Given the description of an element on the screen output the (x, y) to click on. 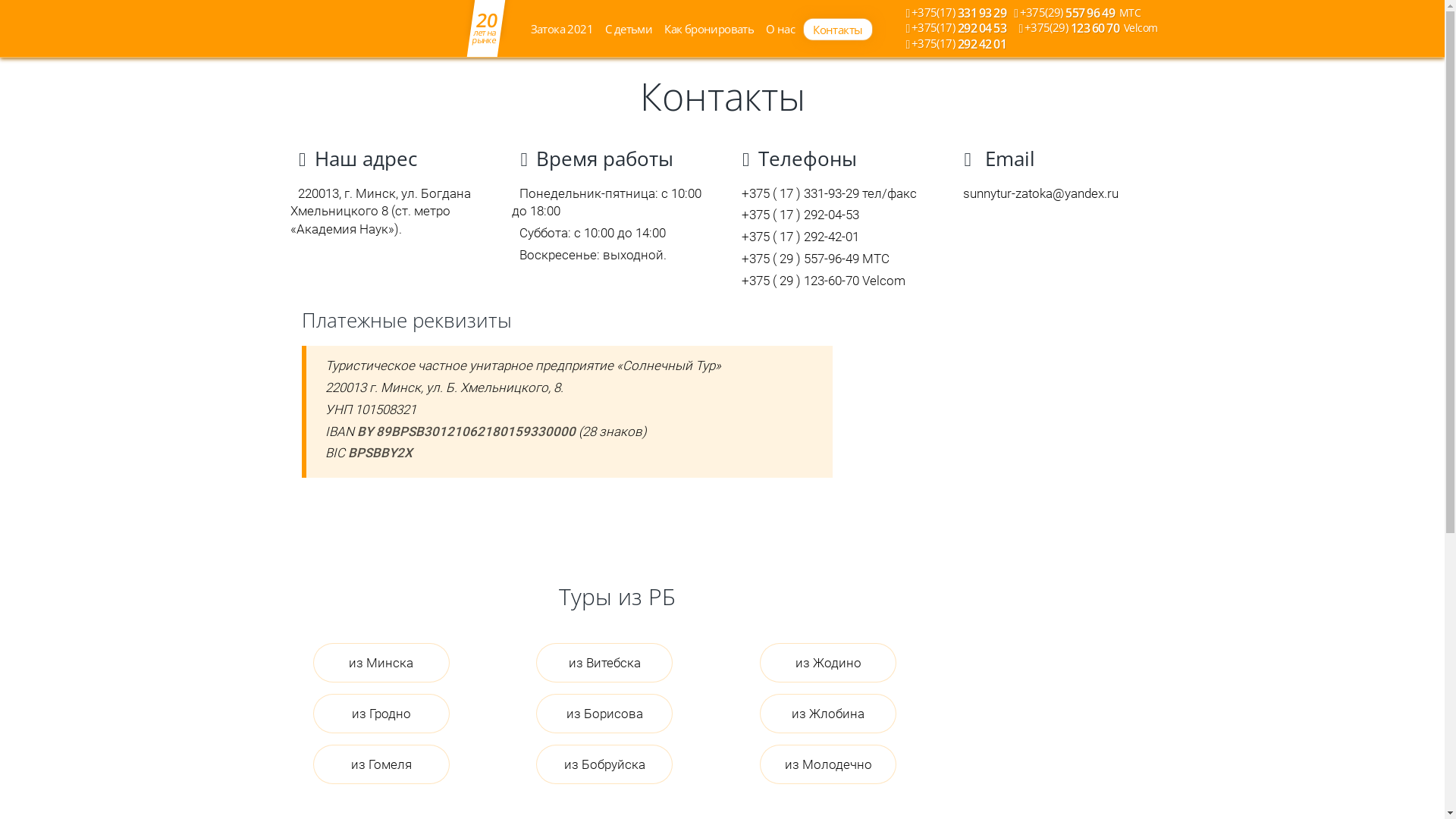
+375(17) 292 04 53 Element type: text (955, 27)
+375(29) 557 96 49 Element type: text (1076, 12)
+375(29) 123 60 70 Element type: text (1088, 27)
+375(17) 292 42 01 Element type: text (955, 43)
+375(17) 331 93 29 Element type: text (955, 12)
sunnytur-zatoka@yandex.ru Element type: text (1040, 192)
